Given the description of an element on the screen output the (x, y) to click on. 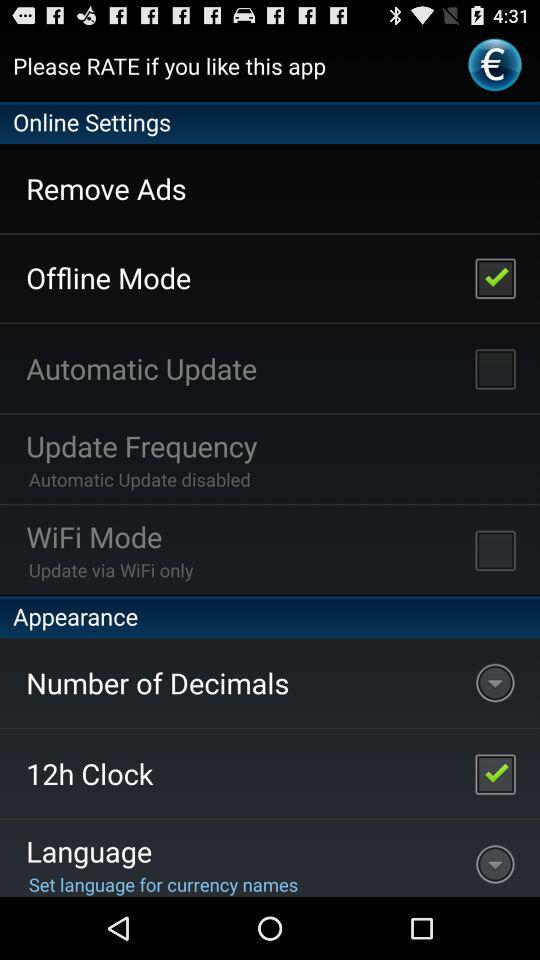
toggle automatic updates (495, 367)
